Given the description of an element on the screen output the (x, y) to click on. 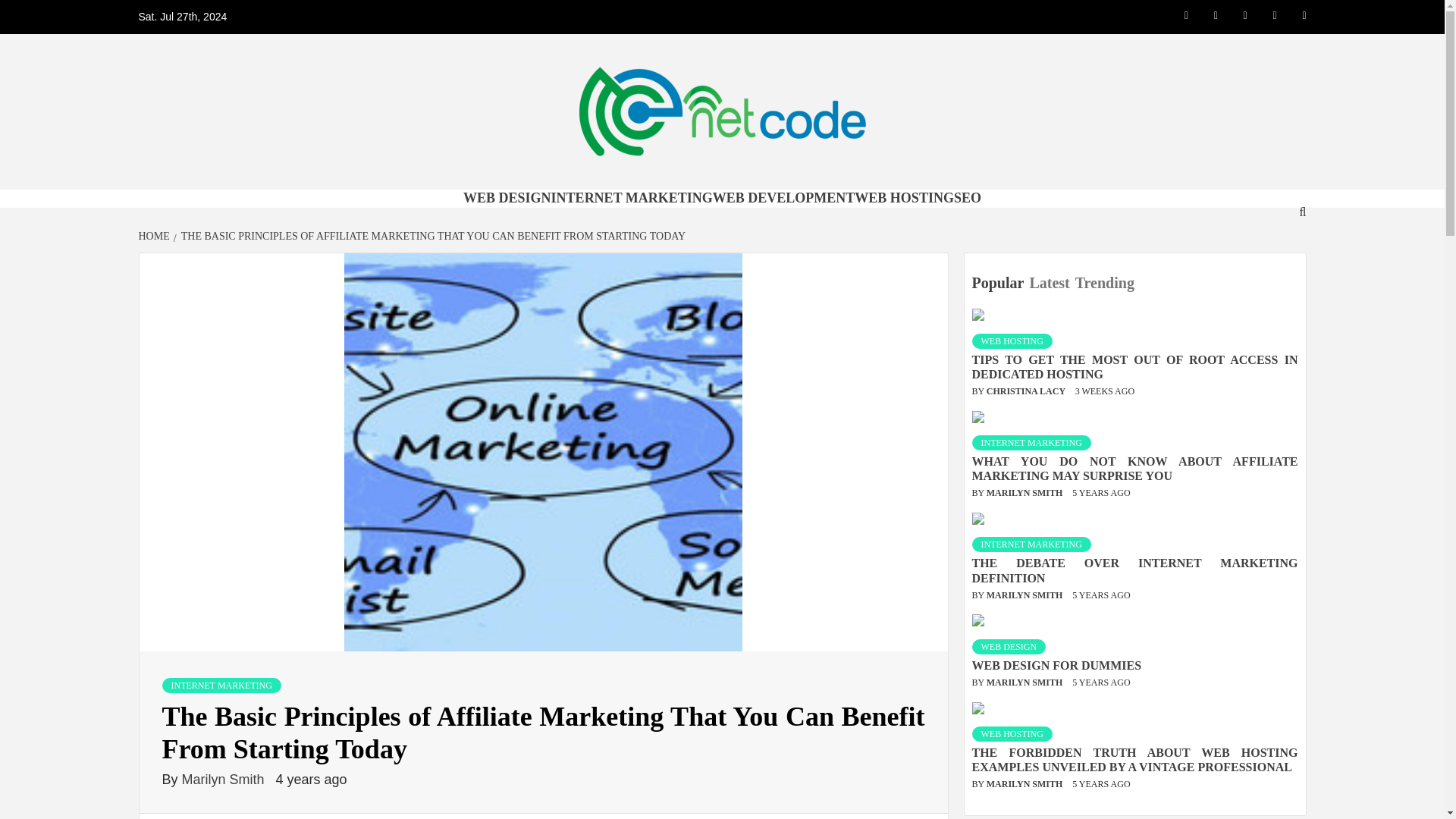
Latest (1051, 283)
MARILYN SMITH (1026, 492)
WEB HOSTING (1012, 340)
TIPS TO GET THE MOST OUT OF ROOT ACCESS IN DEDICATED HOSTING (1135, 366)
INTERNET MARKETING (632, 197)
THE DEBATE OVER INTERNET MARKETING DEFINITION (1135, 569)
INTERNET MARKETING (1031, 544)
HOME (155, 235)
CHRISTINA LACY (1027, 390)
WEB DESIGN (507, 197)
Marilyn Smith (224, 779)
MARILYN SMITH (1026, 594)
Trending (1106, 283)
